Given the description of an element on the screen output the (x, y) to click on. 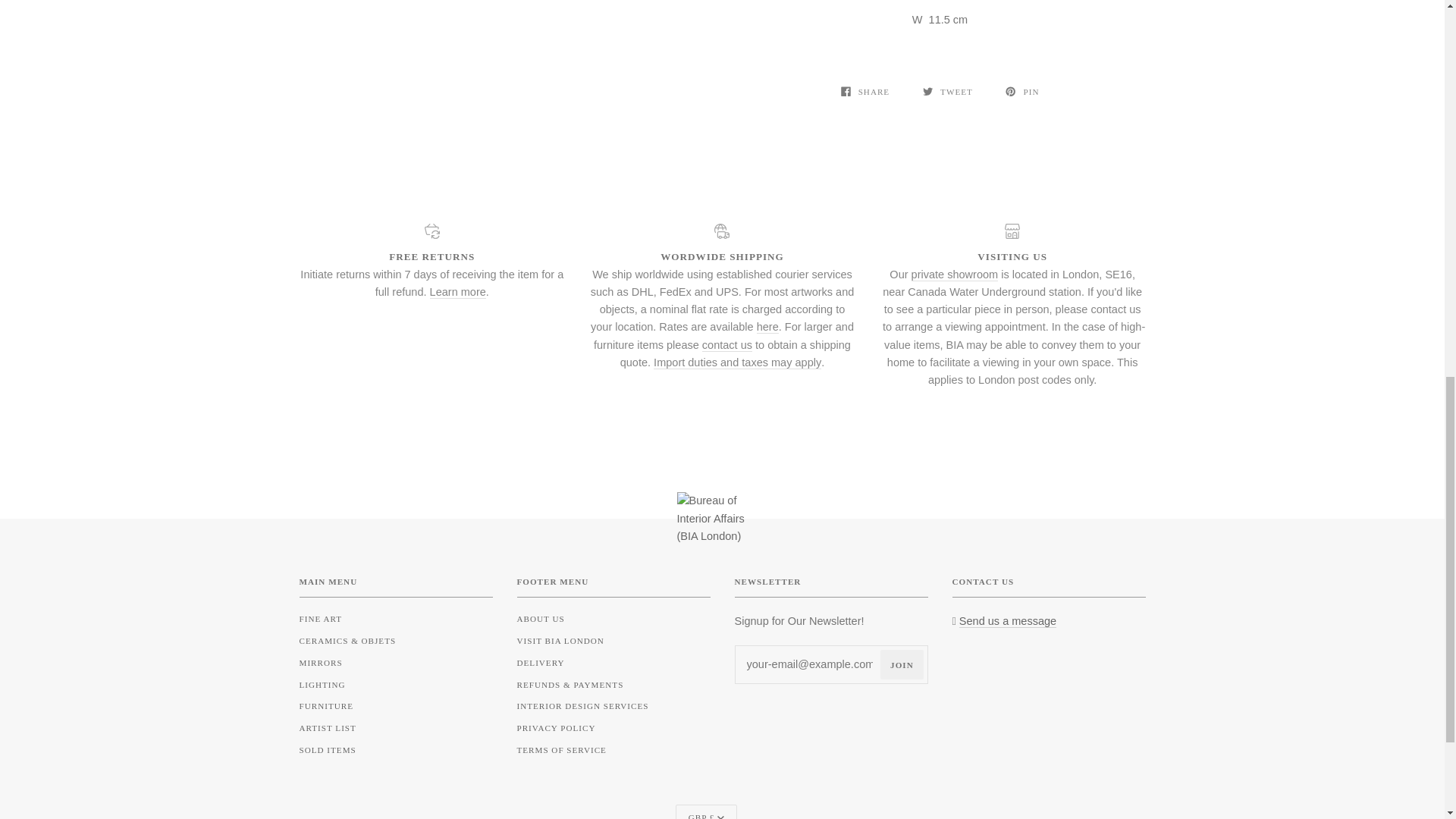
Delivery (767, 326)
Delivery (737, 362)
Contact Us (1221, 317)
Contact Us (726, 345)
Contact Us (1008, 621)
Visit Our Showroom (954, 274)
